Given the description of an element on the screen output the (x, y) to click on. 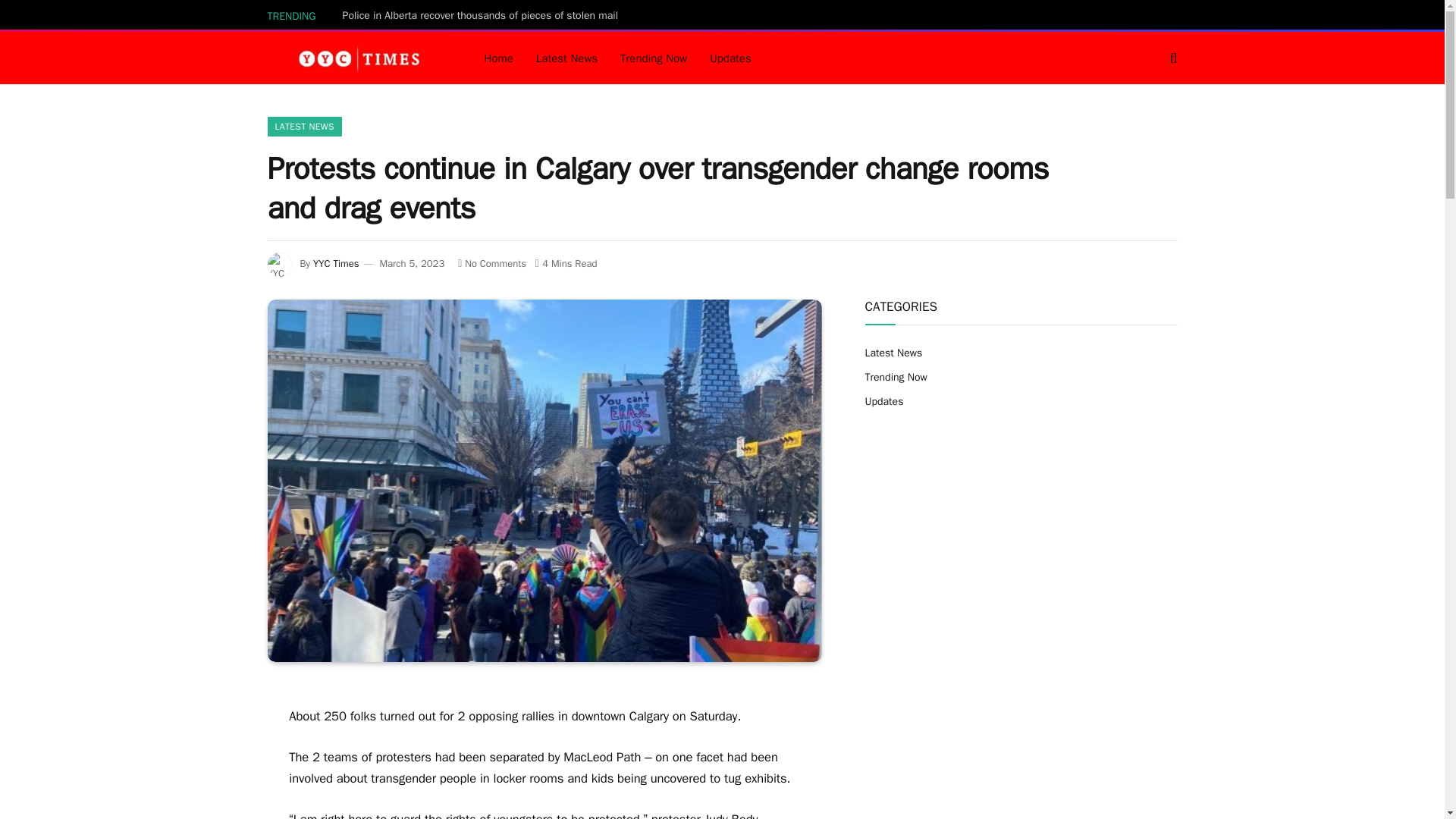
No Comments (491, 263)
Latest News (566, 57)
YYC Times (336, 263)
Posts by YYC Times (336, 263)
LATEST NEWS (303, 126)
Home (498, 57)
Trending Now (653, 57)
Police in Alberta recover thousands of pieces of stolen mail (484, 15)
Updates (730, 57)
YYC Times (355, 57)
